Given the description of an element on the screen output the (x, y) to click on. 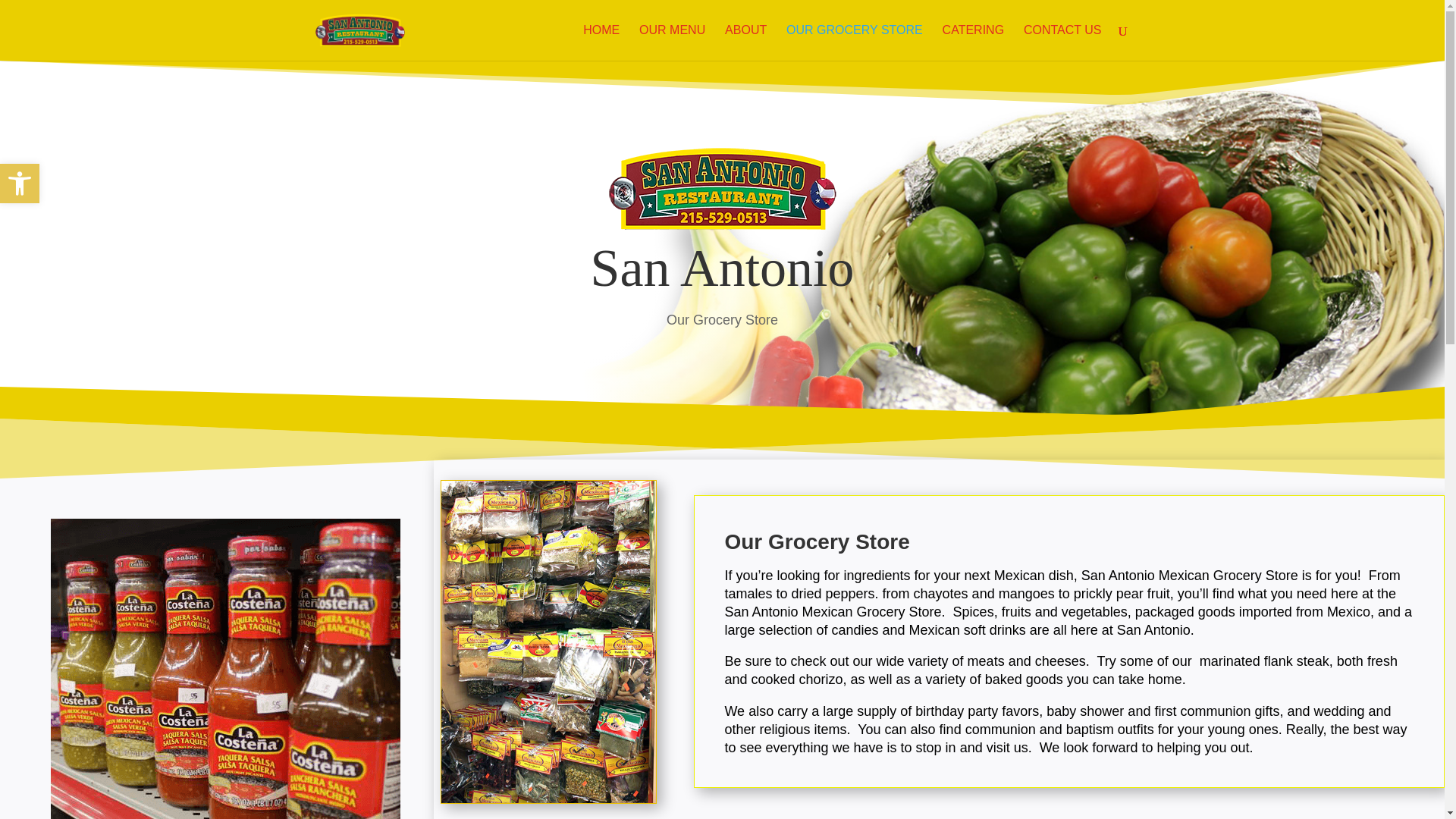
ABOUT (746, 42)
OUR GROCERY STORE (854, 42)
Accessibility Tools (19, 183)
OUR MENU (671, 42)
HOME (601, 42)
CONTACT US (19, 183)
Accessibility Tools (1062, 42)
CATERING (19, 183)
